Given the description of an element on the screen output the (x, y) to click on. 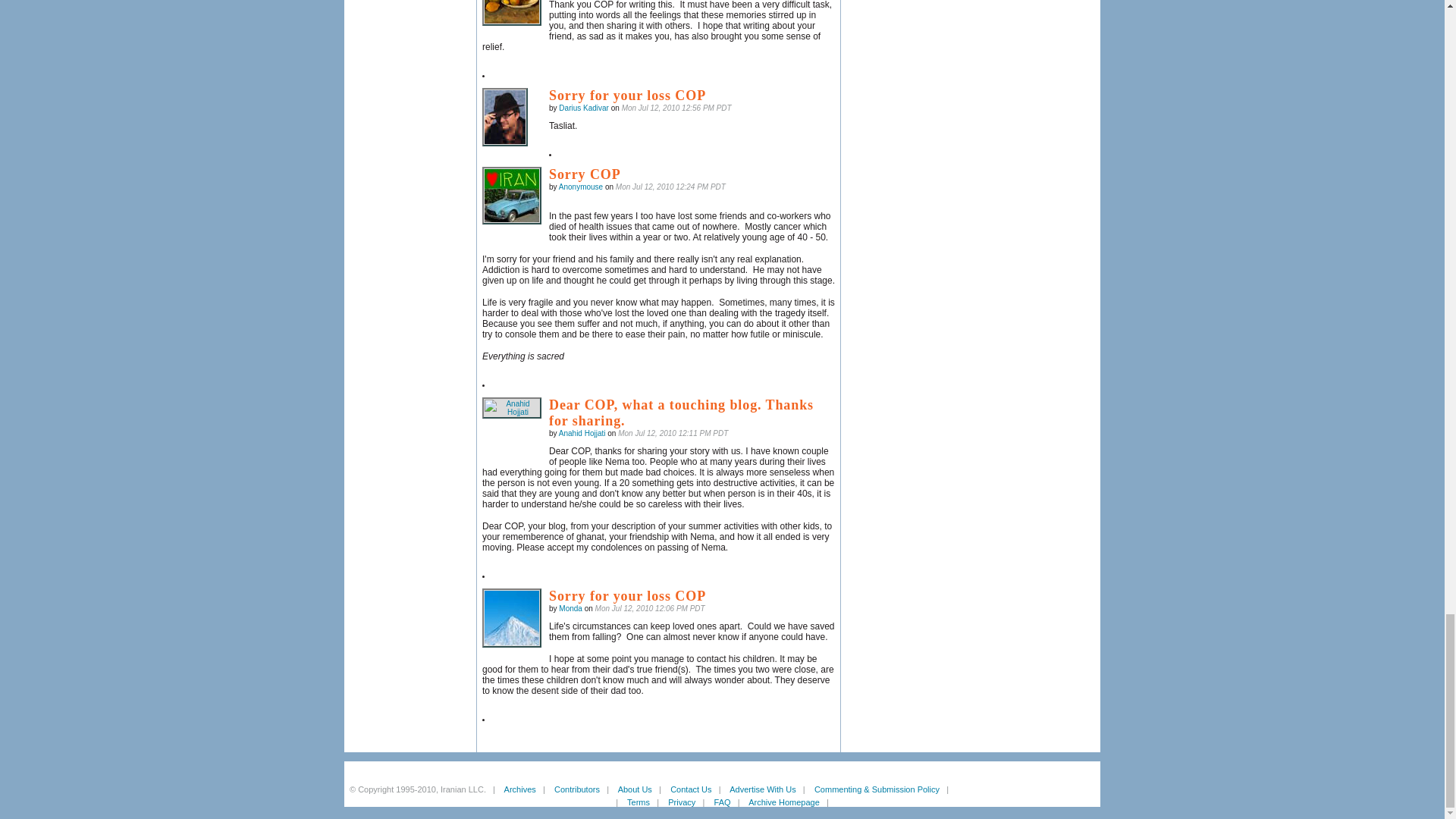
Niki Tehranchi (511, 12)
